Given the description of an element on the screen output the (x, y) to click on. 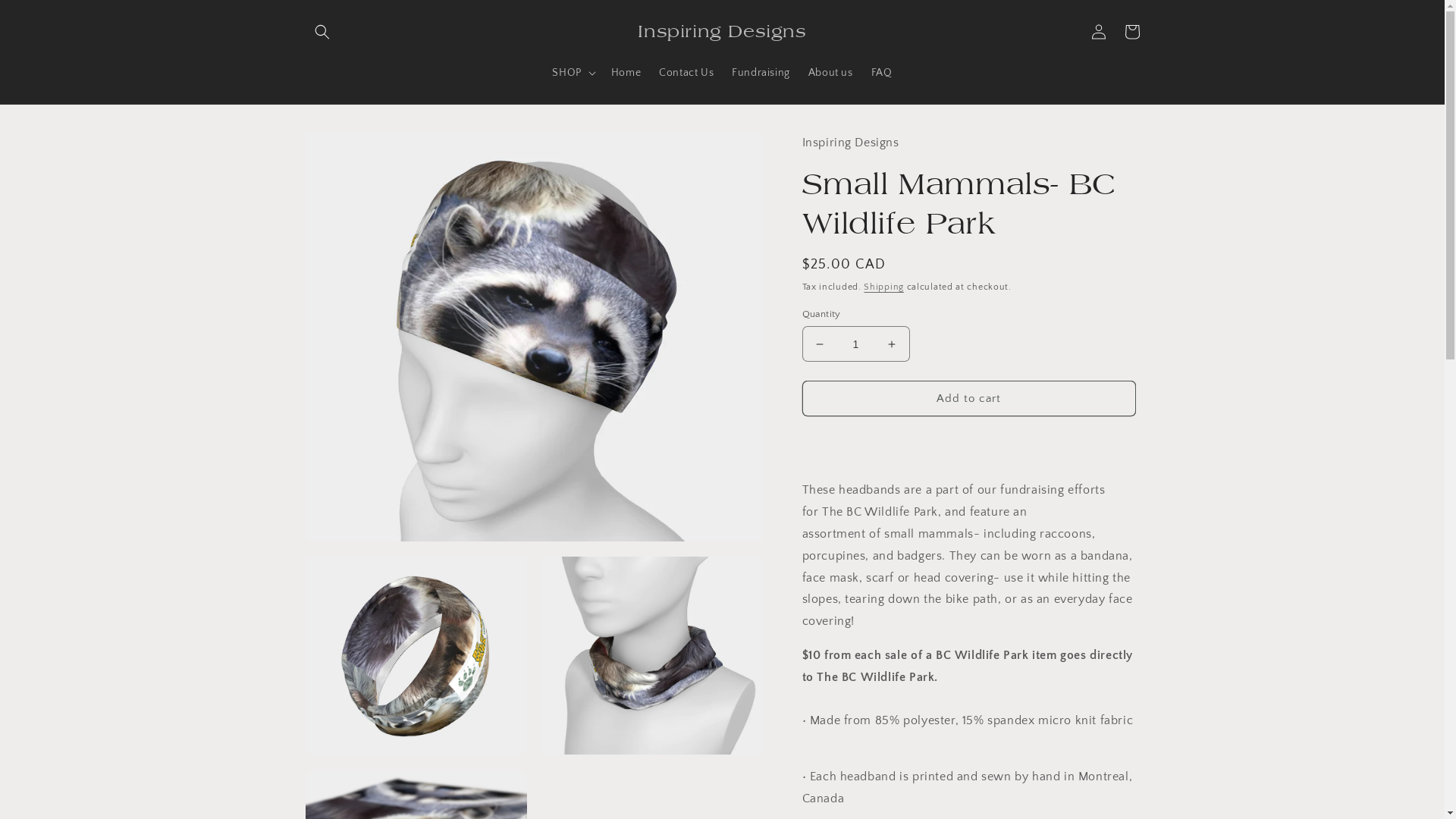
Inspiring Designs Element type: text (722, 31)
Skip to product information Element type: text (350, 148)
Increase quantity for Small Mammals- BC Wildlife Park Element type: text (892, 343)
Log in Element type: text (1097, 31)
Cart Element type: text (1131, 31)
Decrease quantity for Small Mammals- BC Wildlife Park Element type: text (819, 343)
Contact Us Element type: text (685, 71)
Add to cart Element type: text (968, 398)
About us Element type: text (830, 71)
Fundraising Element type: text (760, 71)
FAQ Element type: text (881, 71)
Home Element type: text (625, 71)
Shipping Element type: text (883, 286)
